Given the description of an element on the screen output the (x, y) to click on. 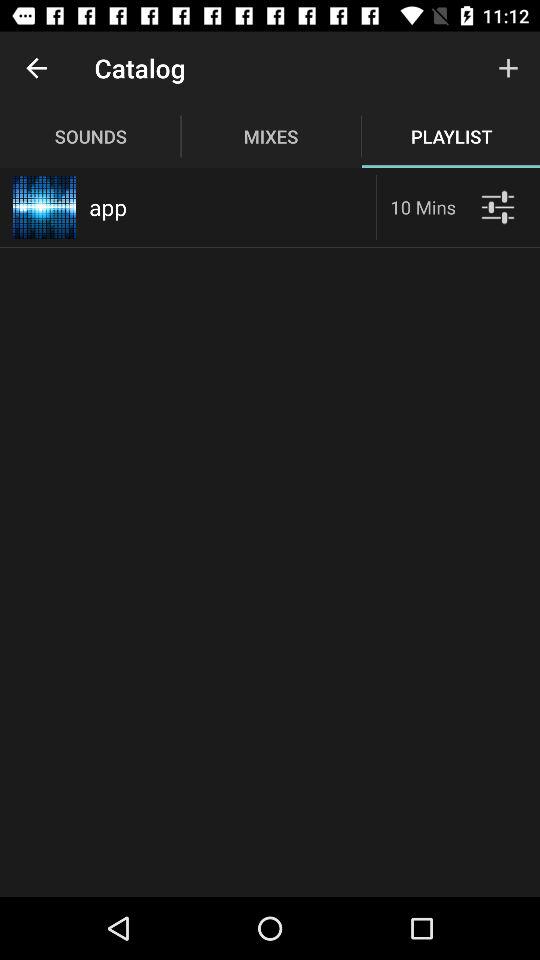
filters (498, 206)
